Given the description of an element on the screen output the (x, y) to click on. 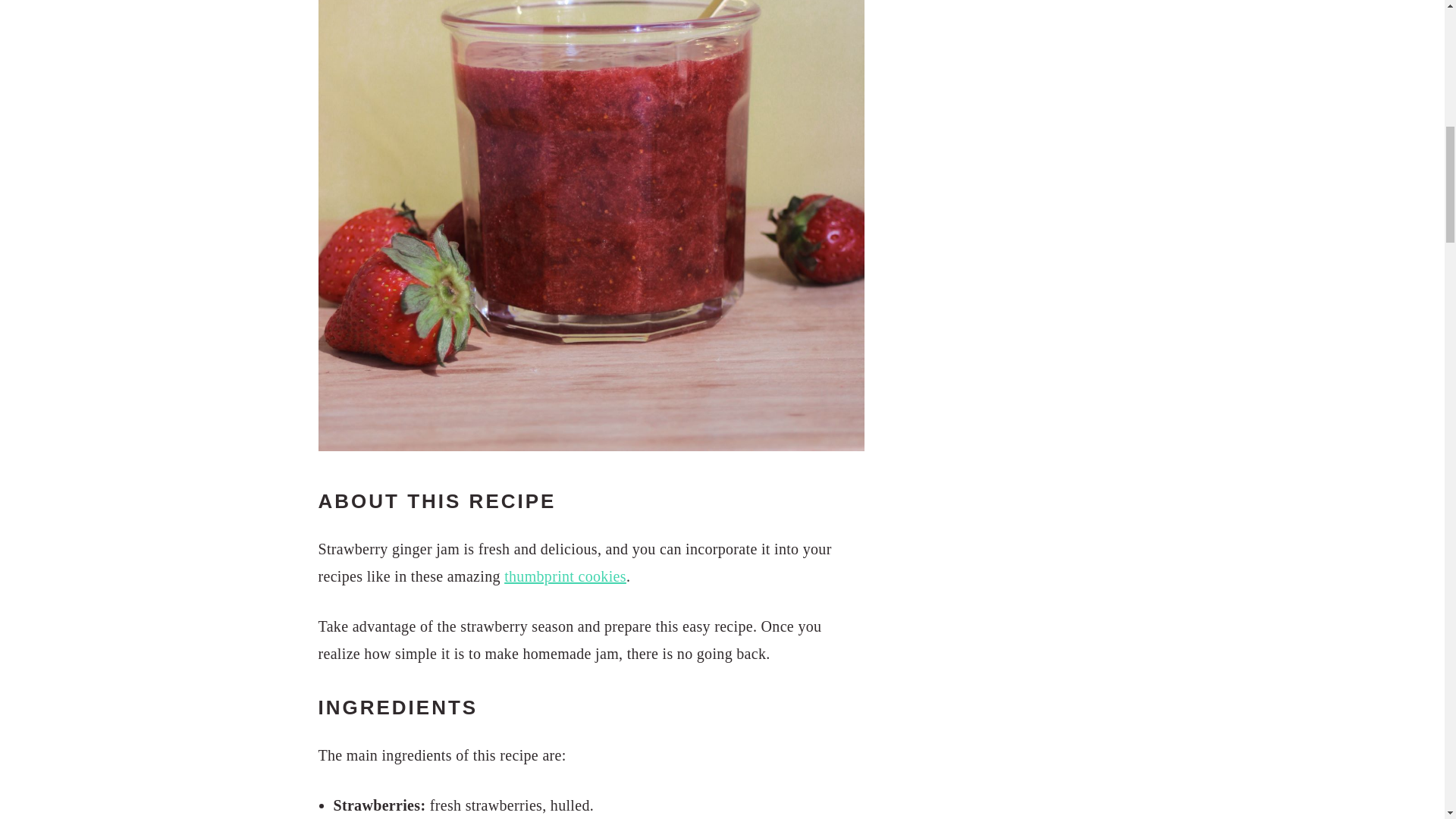
thumbprint cookies (564, 576)
